Given the description of an element on the screen output the (x, y) to click on. 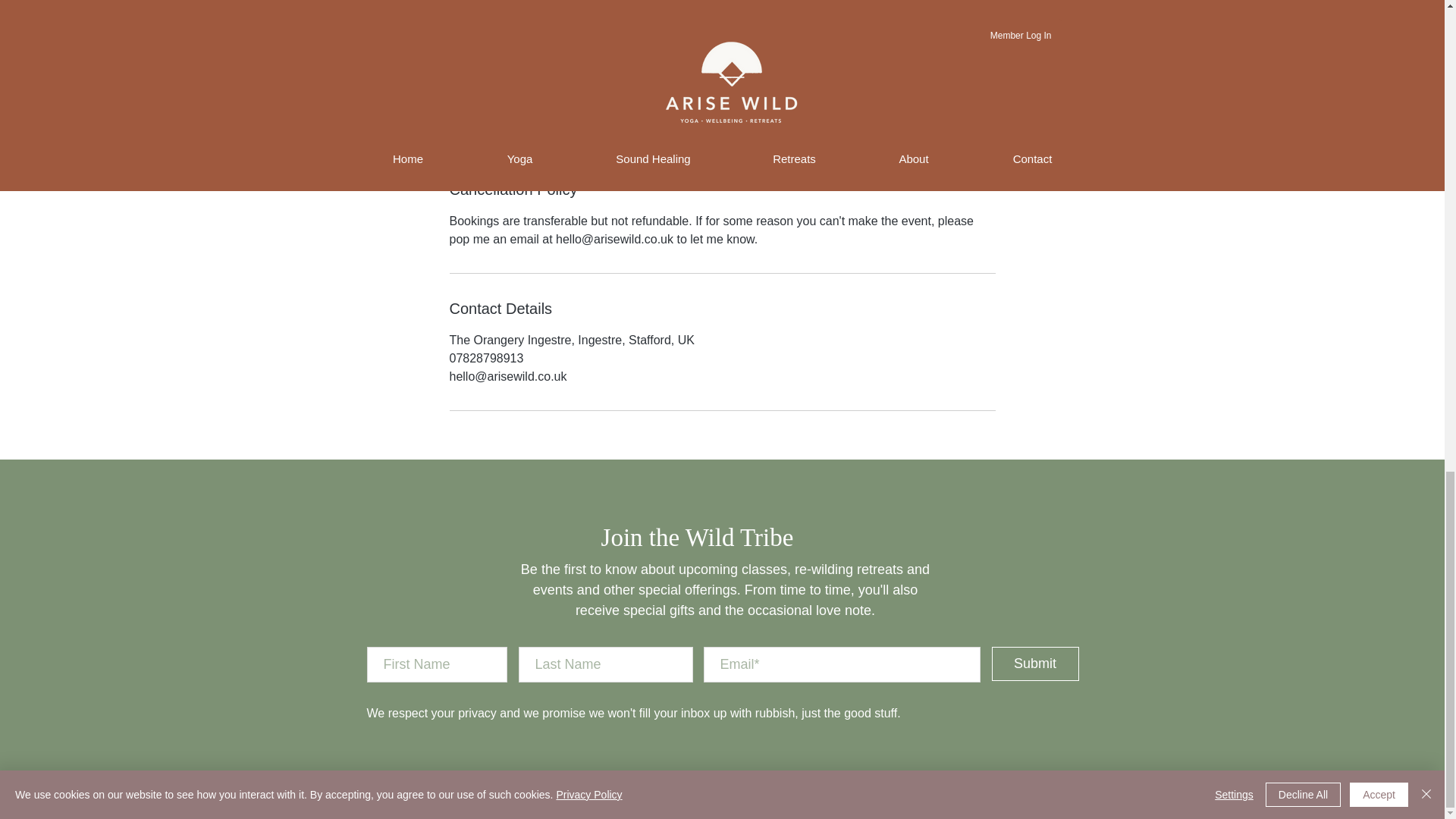
Submit (1034, 663)
 England UK (847, 780)
Arise Wild, (792, 780)
